Given the description of an element on the screen output the (x, y) to click on. 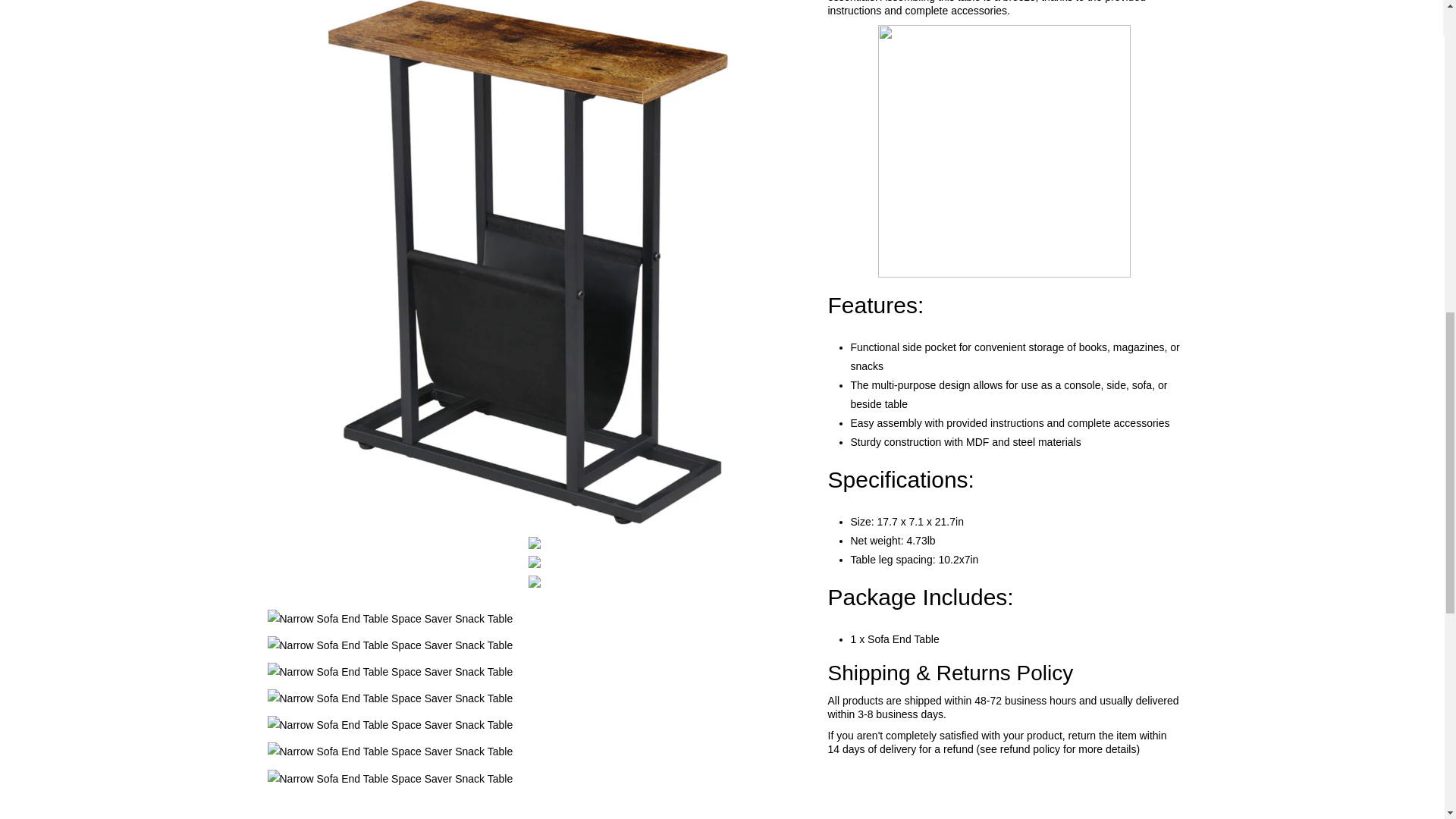
Narrow Sofa End Table Space Saver Snack Table (533, 562)
Narrow Sofa End Table Space Saver Snack Table (533, 581)
Narrow Sofa End Table Space Saver Snack Table (533, 778)
Narrow Sofa End Table Space Saver Snack Table (533, 671)
Narrow Sofa End Table Space Saver Snack Table (533, 542)
Narrow Sofa End Table Space Saver Snack Table (533, 618)
Narrow Sofa End Table Space Saver Snack Table (533, 698)
Narrow Sofa End Table Space Saver Snack Table (533, 645)
Narrow Sofa End Table Space Saver Snack Table (533, 724)
